Given the description of an element on the screen output the (x, y) to click on. 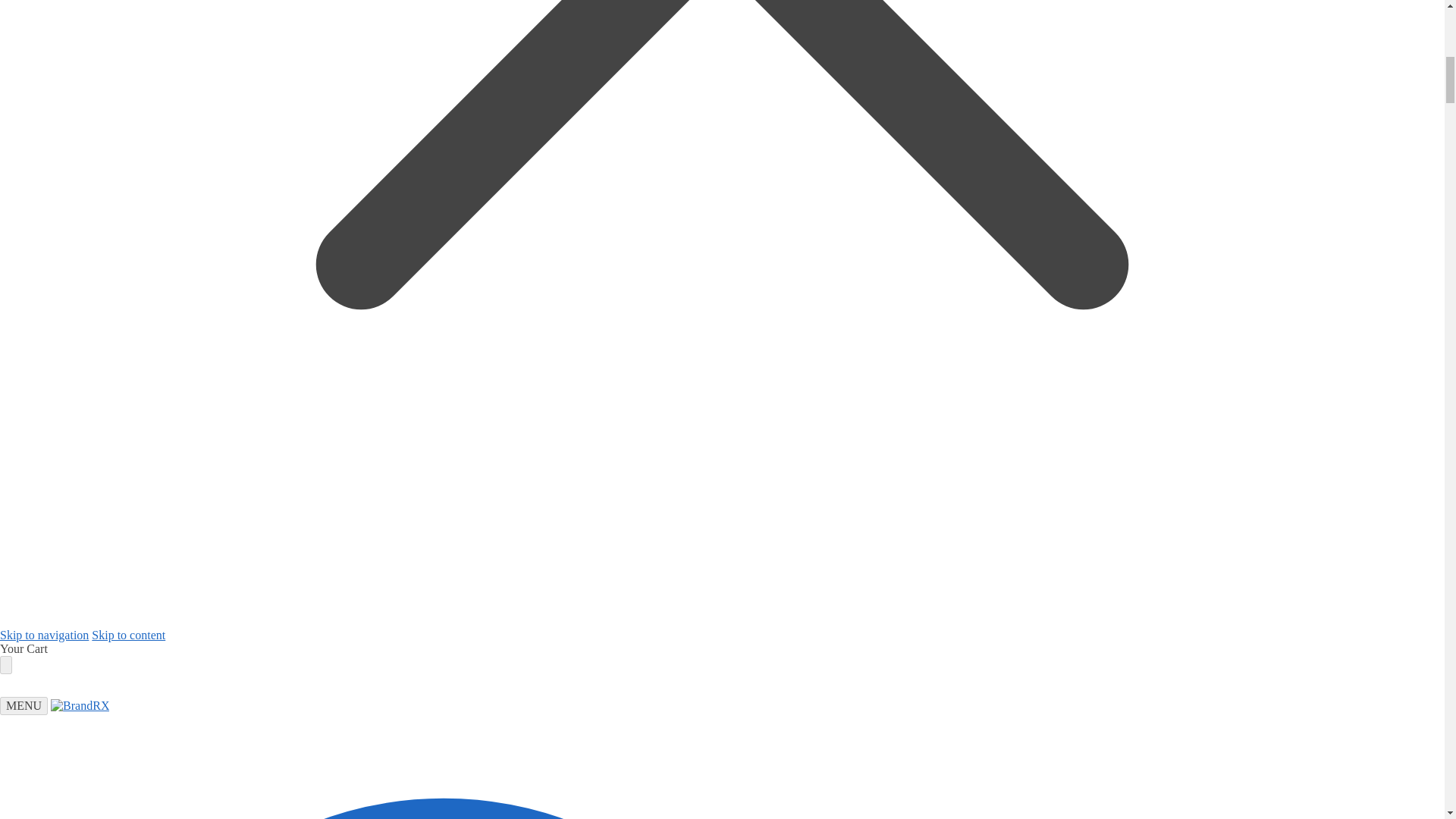
MENU (24, 705)
Skip to content (128, 634)
Skip to navigation (44, 634)
